Given the description of an element on the screen output the (x, y) to click on. 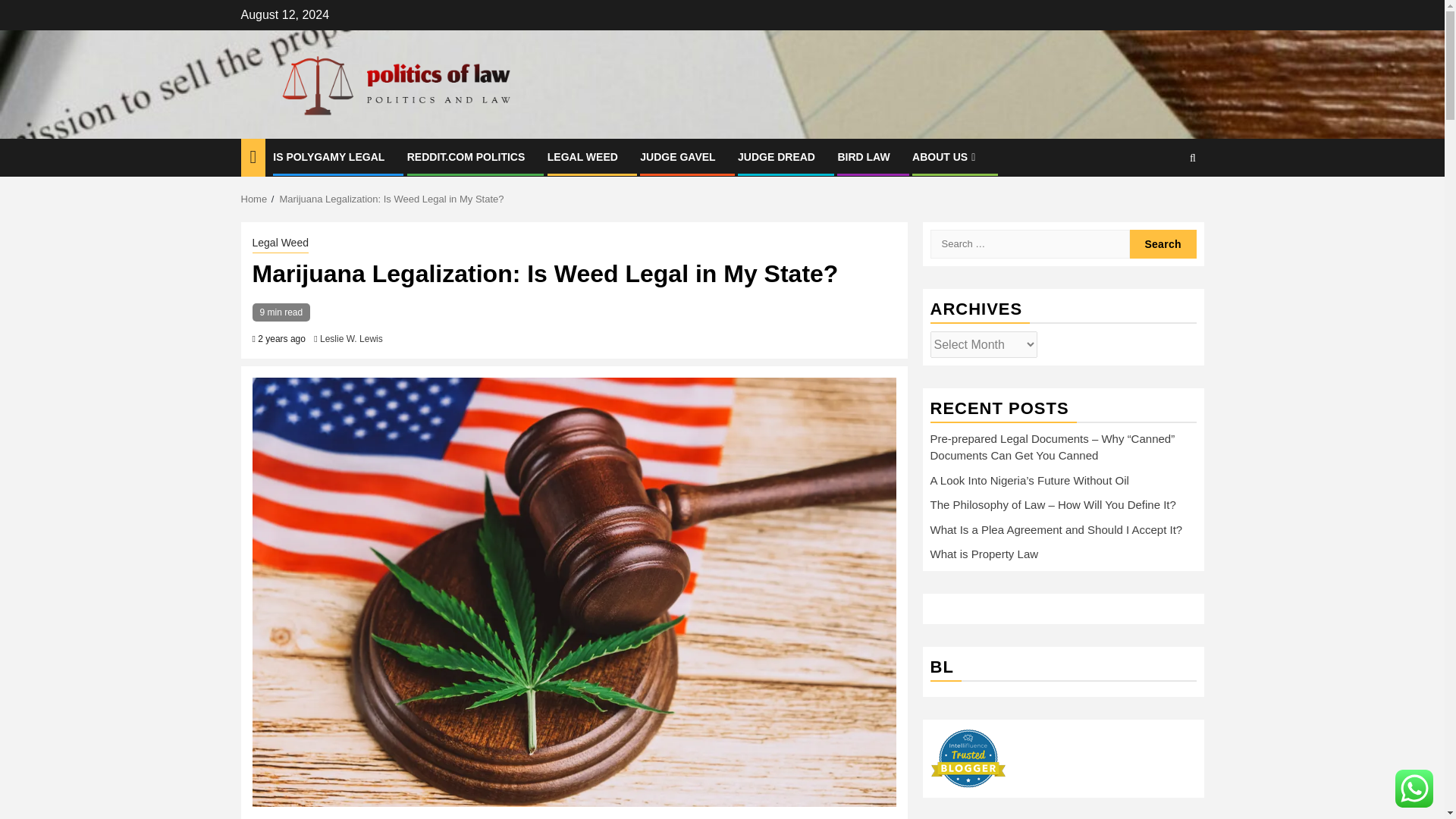
Marijuana Legalization: Is Weed Legal in My State? (391, 198)
JUDGE GAVEL (677, 156)
LEGAL WEED (582, 156)
ABOUT US (945, 156)
Search (1163, 203)
Search (1162, 244)
IS POLYGAMY LEGAL (328, 156)
BIRD LAW (863, 156)
REDDIT.COM POLITICS (466, 156)
JUDGE DREAD (776, 156)
